Given the description of an element on the screen output the (x, y) to click on. 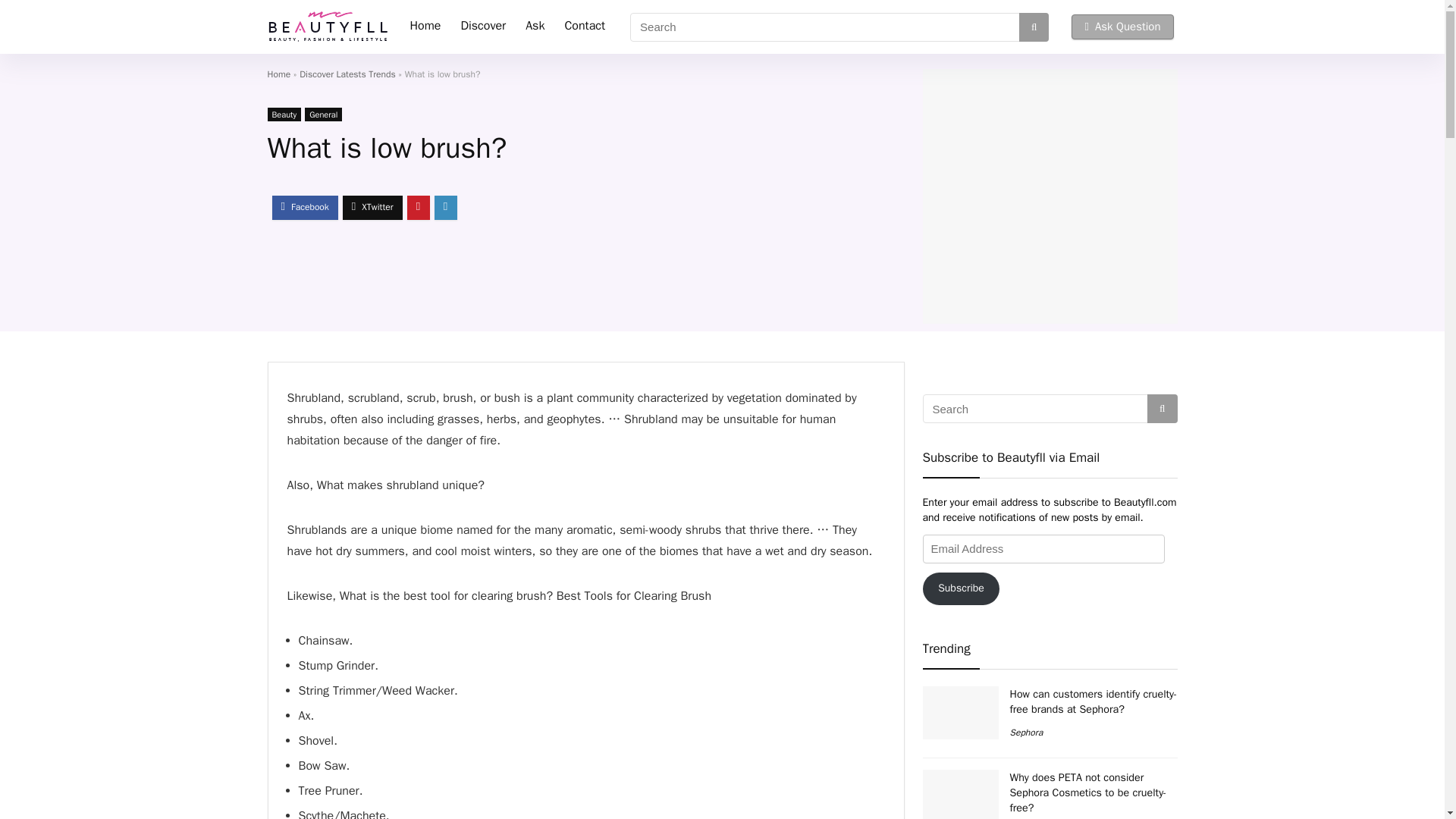
General (323, 111)
Sephora (1026, 642)
Ask (703, 25)
Discover (652, 25)
View all posts in General (323, 111)
Home (594, 25)
Contact (753, 25)
How can customers identify cruelty-free brands at Sephora? (1093, 611)
View all posts in Beauty (283, 111)
